Given the description of an element on the screen output the (x, y) to click on. 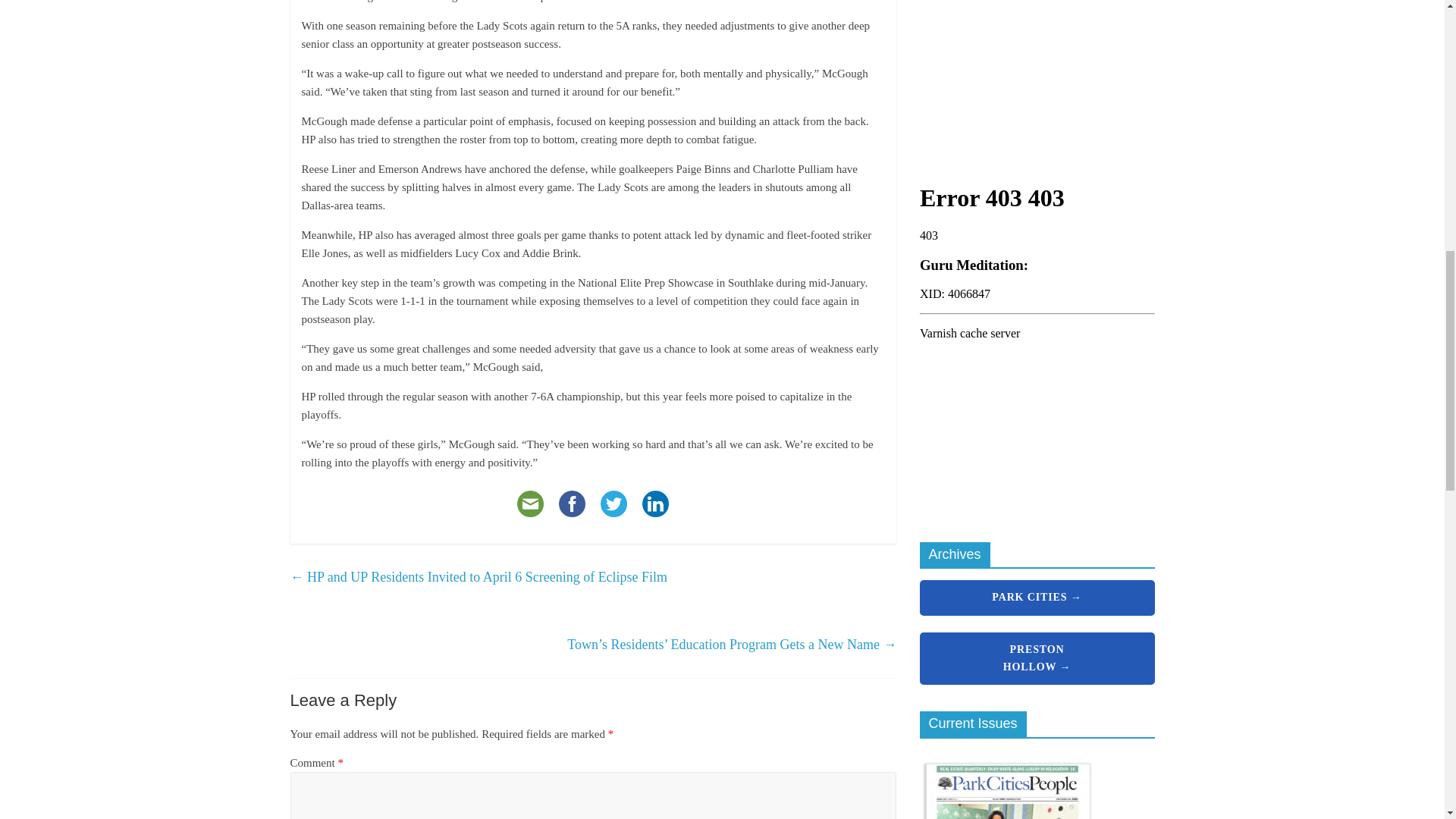
Email (530, 503)
LinkedIn (655, 503)
3rd party ad content (1032, 70)
Twitter (613, 503)
Facebook (571, 503)
